Given the description of an element on the screen output the (x, y) to click on. 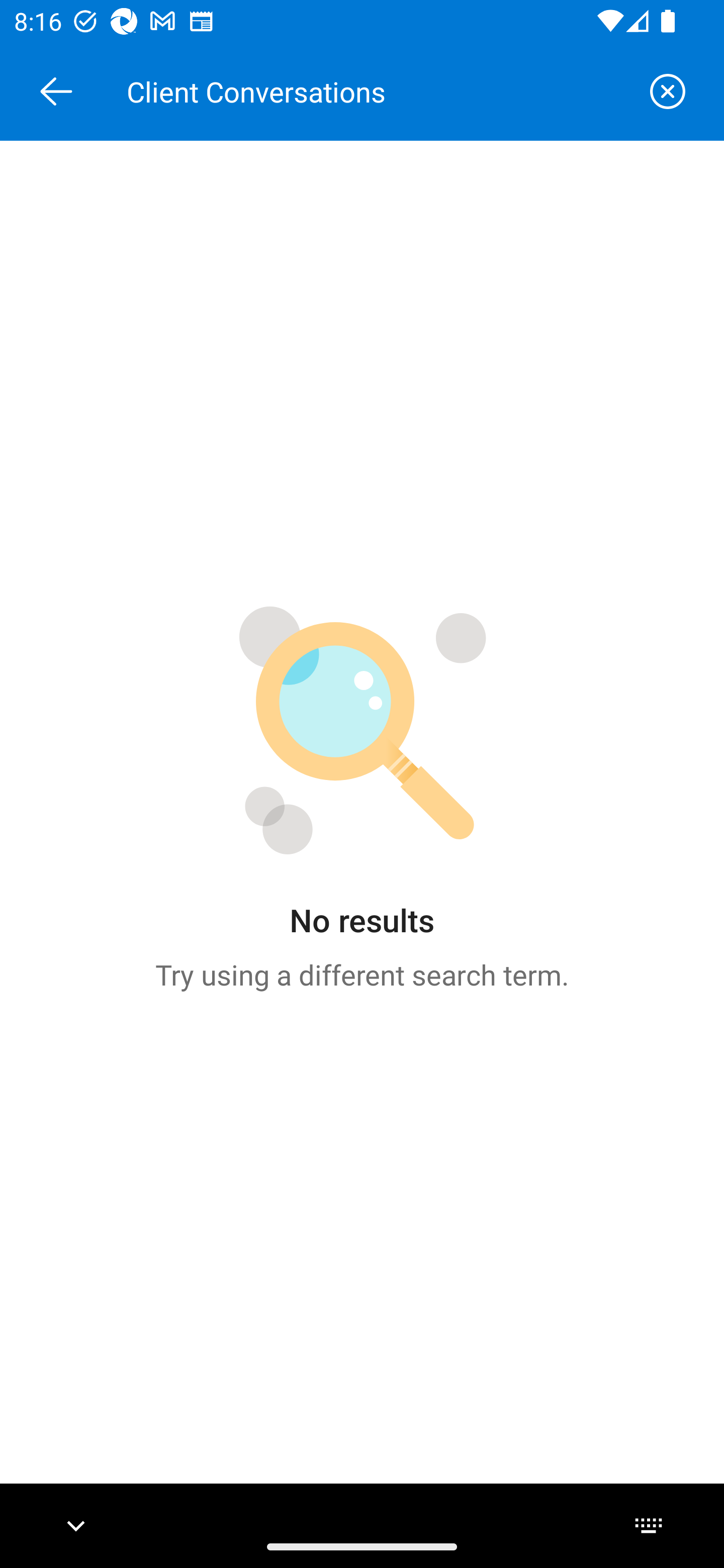
Back (55, 91)
Client Conversations (375, 91)
clear search (667, 91)
